Given the description of an element on the screen output the (x, y) to click on. 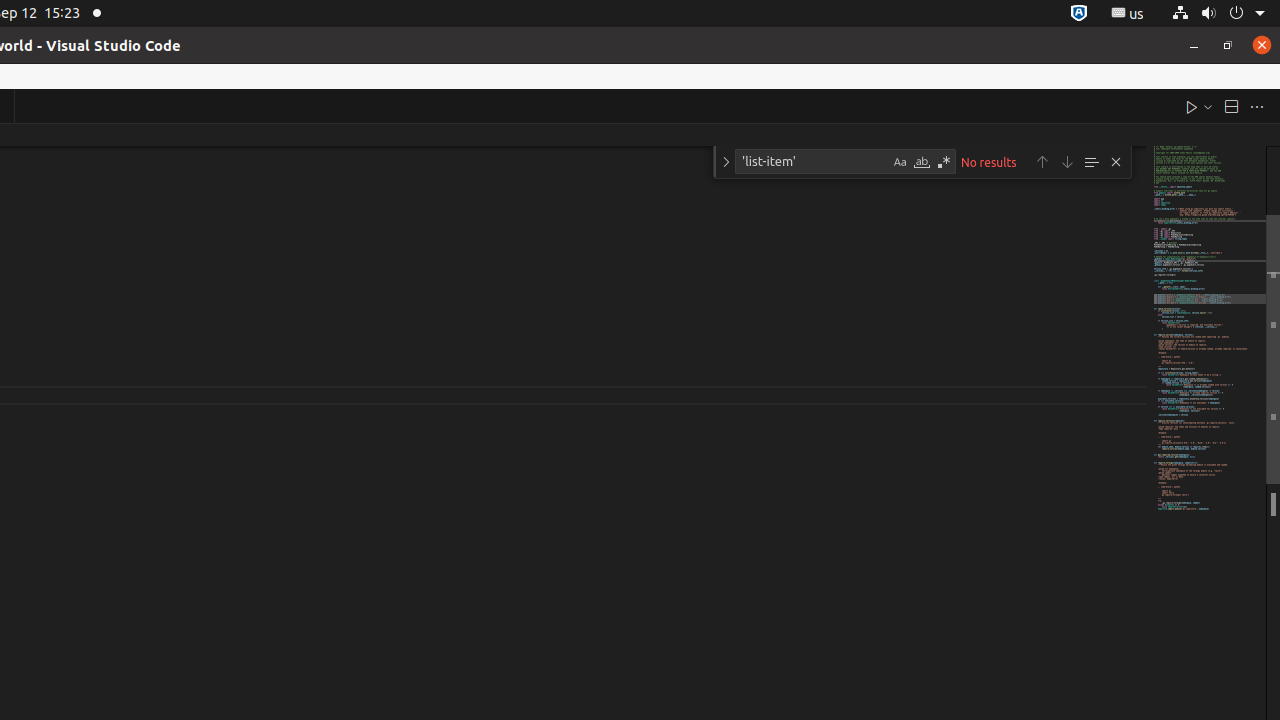
More Actions... Element type: push-button (1257, 106)
Next Match (Enter) Element type: push-button (1067, 161)
Toggle Replace Element type: push-button (726, 162)
Find in Selection (Alt+L) Element type: check-box (1091, 161)
